Given the description of an element on the screen output the (x, y) to click on. 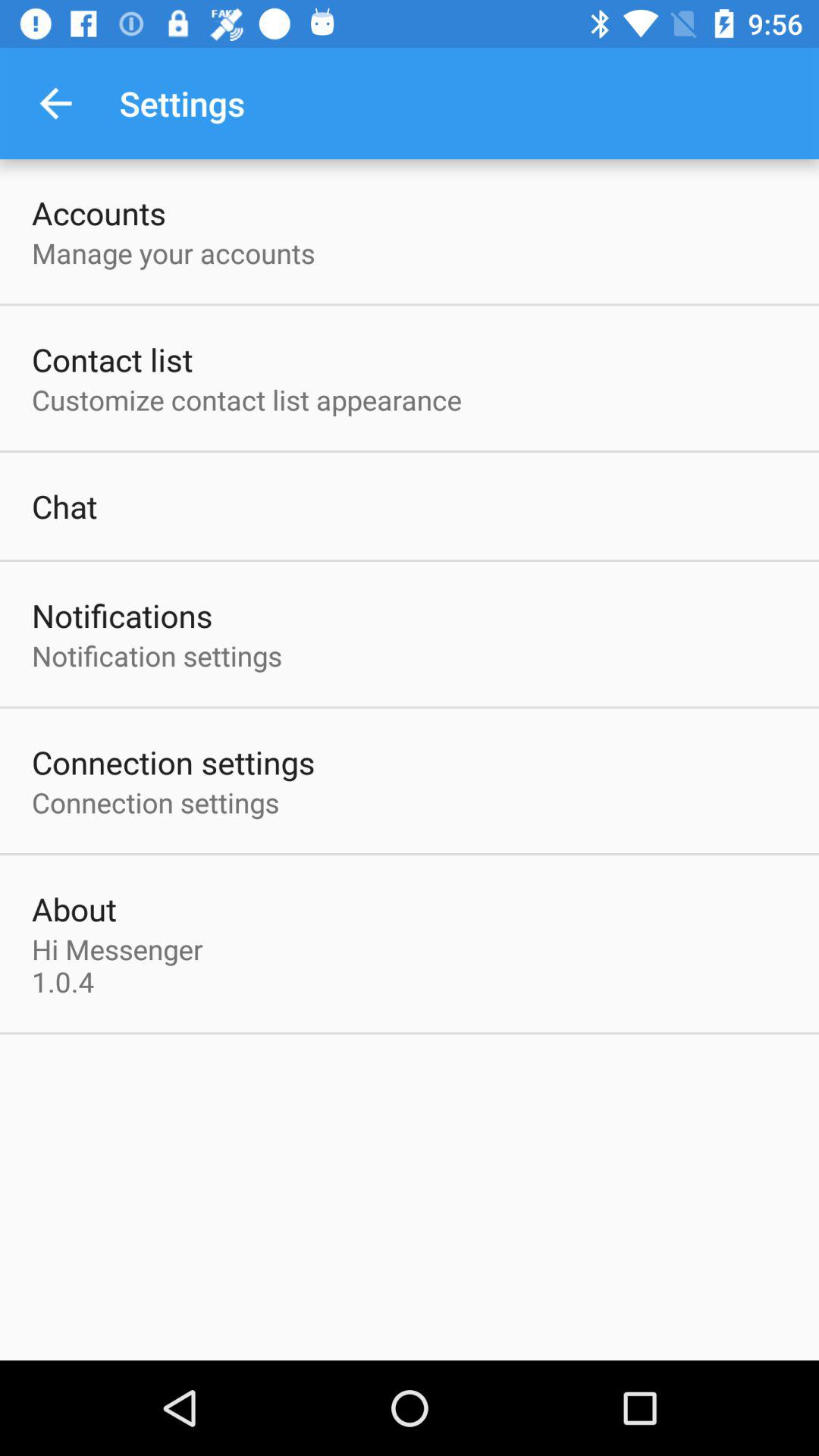
select the icon below the notifications item (156, 655)
